Given the description of an element on the screen output the (x, y) to click on. 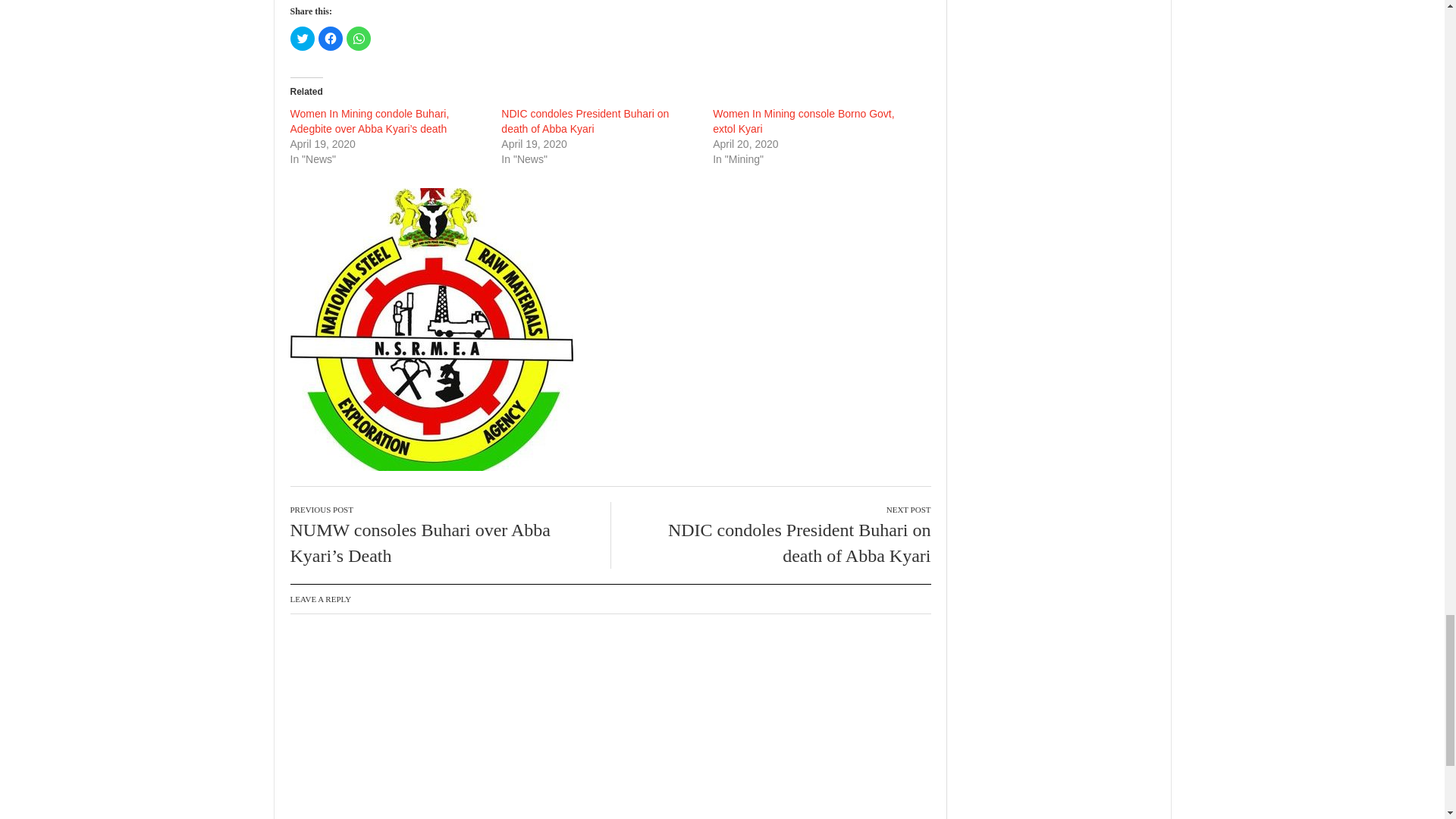
Click to share on Twitter (301, 38)
Comment Form (609, 724)
Women In Mining console Borno Govt, extol Kyari (803, 121)
NDIC condoles President Buhari on death of Abba Kyari (584, 121)
Women In Mining console Borno Govt, extol Kyari (803, 121)
Click to share on Facebook (330, 38)
Click to share on WhatsApp (357, 38)
NDIC condoles President Buhari on death of Abba Kyari (584, 121)
